Given the description of an element on the screen output the (x, y) to click on. 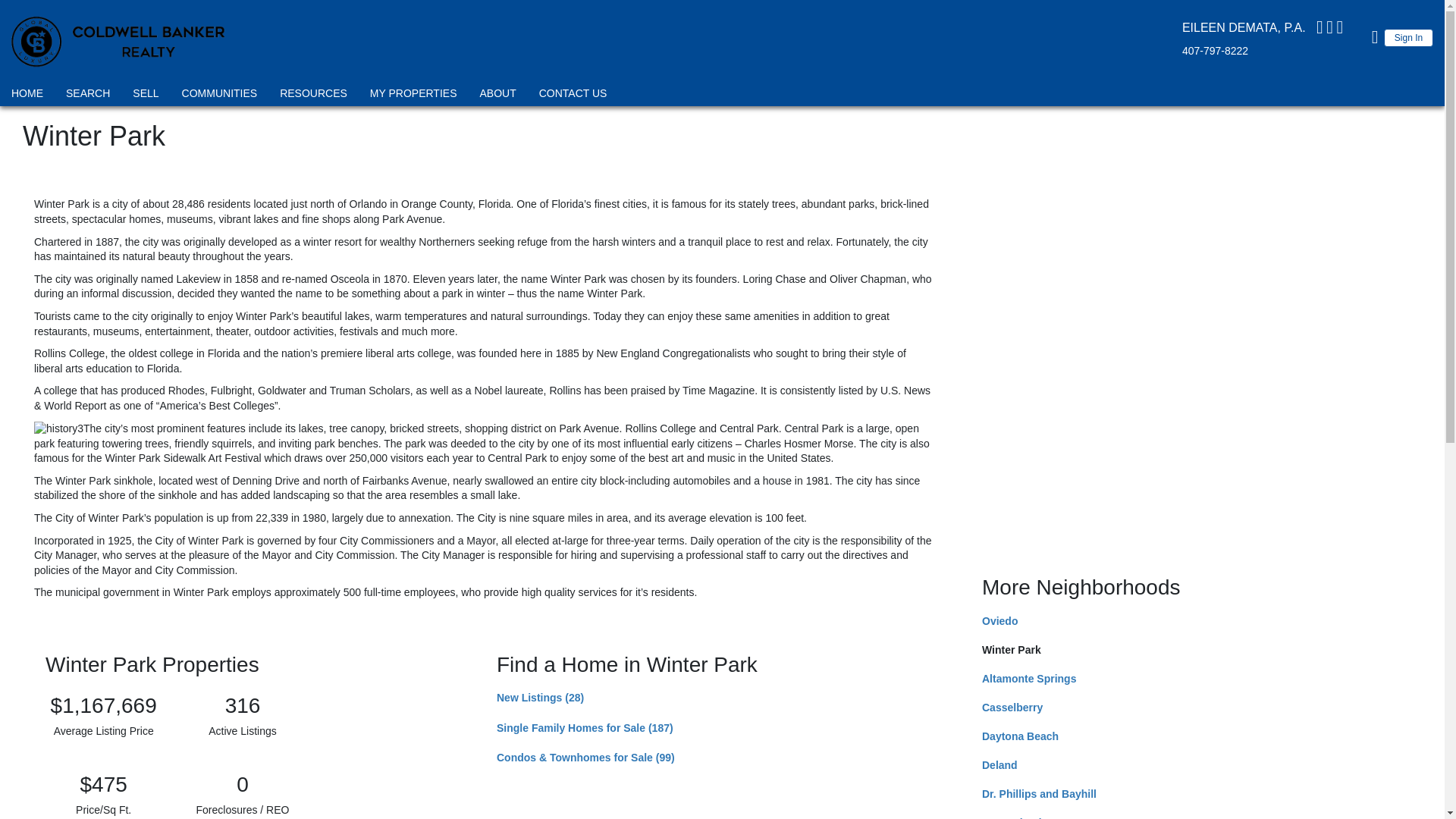
Sign In (1408, 37)
Altamonte Springs (1028, 678)
MY PROPERTIES (413, 95)
Deland (999, 765)
ABOUT (497, 95)
Casselberry (1011, 707)
407-797-8222 (1214, 50)
East Orlando (1014, 817)
Dr. Phillips and Bayhill (1038, 793)
Daytona Beach (1019, 736)
HOME (26, 95)
SEARCH (87, 95)
SELL (145, 95)
COMMUNITIES (219, 95)
Oviedo (999, 621)
